Given the description of an element on the screen output the (x, y) to click on. 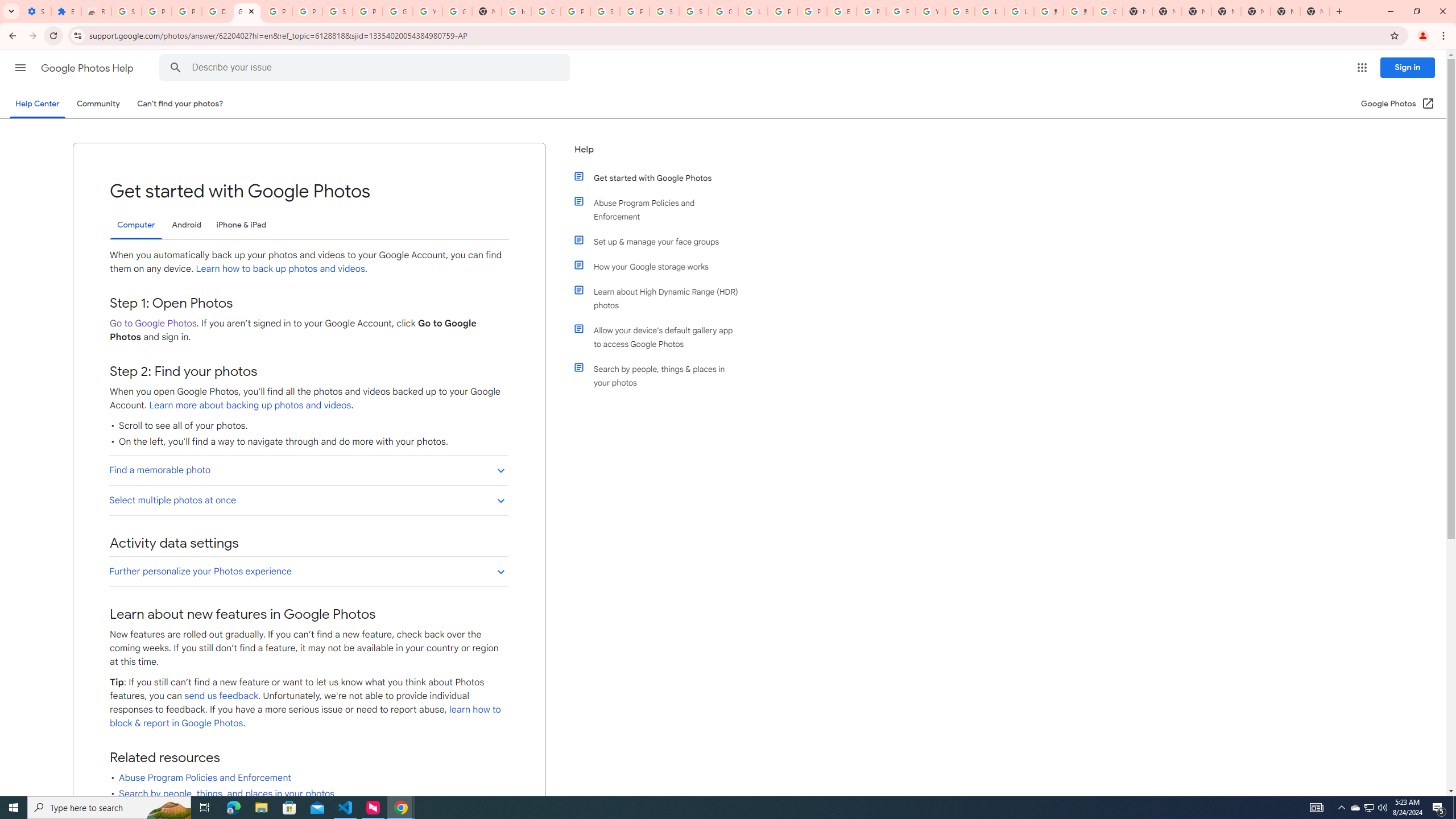
Sign in - Google Accounts (664, 11)
Privacy Help Center - Policies Help (782, 11)
Can't find your photos? (180, 103)
Learn more about backing up photos and videos (249, 405)
Community (97, 103)
Set up & manage your face groups (661, 241)
learn how to block & report in Google Photos (304, 716)
Google Images (1107, 11)
Get started with Google Photos (661, 177)
